Given the description of an element on the screen output the (x, y) to click on. 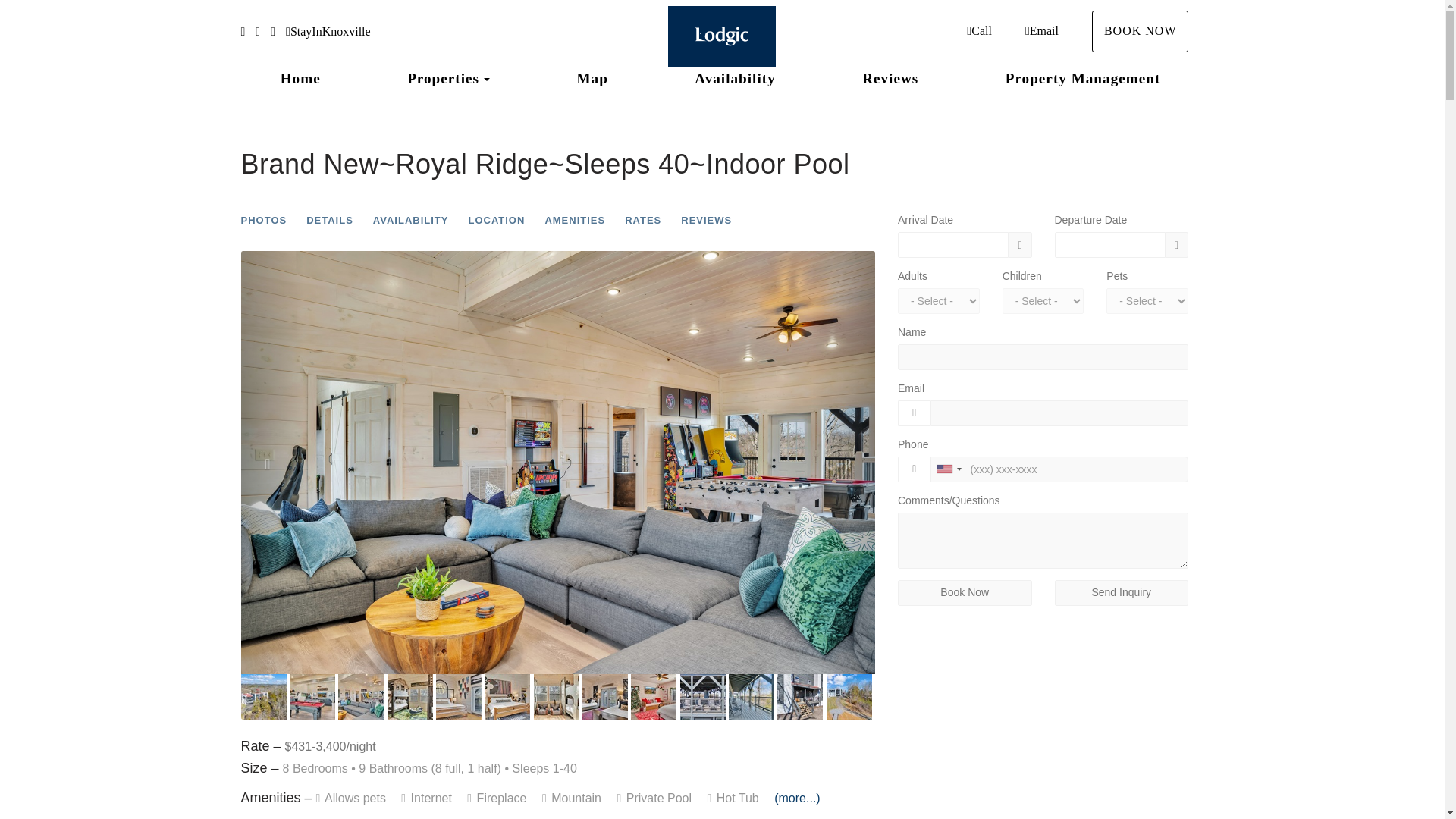
Email (1041, 30)
Availability (735, 78)
Properties (443, 78)
BOOK NOW (1140, 31)
Home (300, 78)
Reviews (889, 78)
Fireplace, Firewood Provided (498, 797)
Call (978, 30)
Map (591, 78)
Smokies Memories (722, 35)
StayInKnoxville (328, 31)
